Given the description of an element on the screen output the (x, y) to click on. 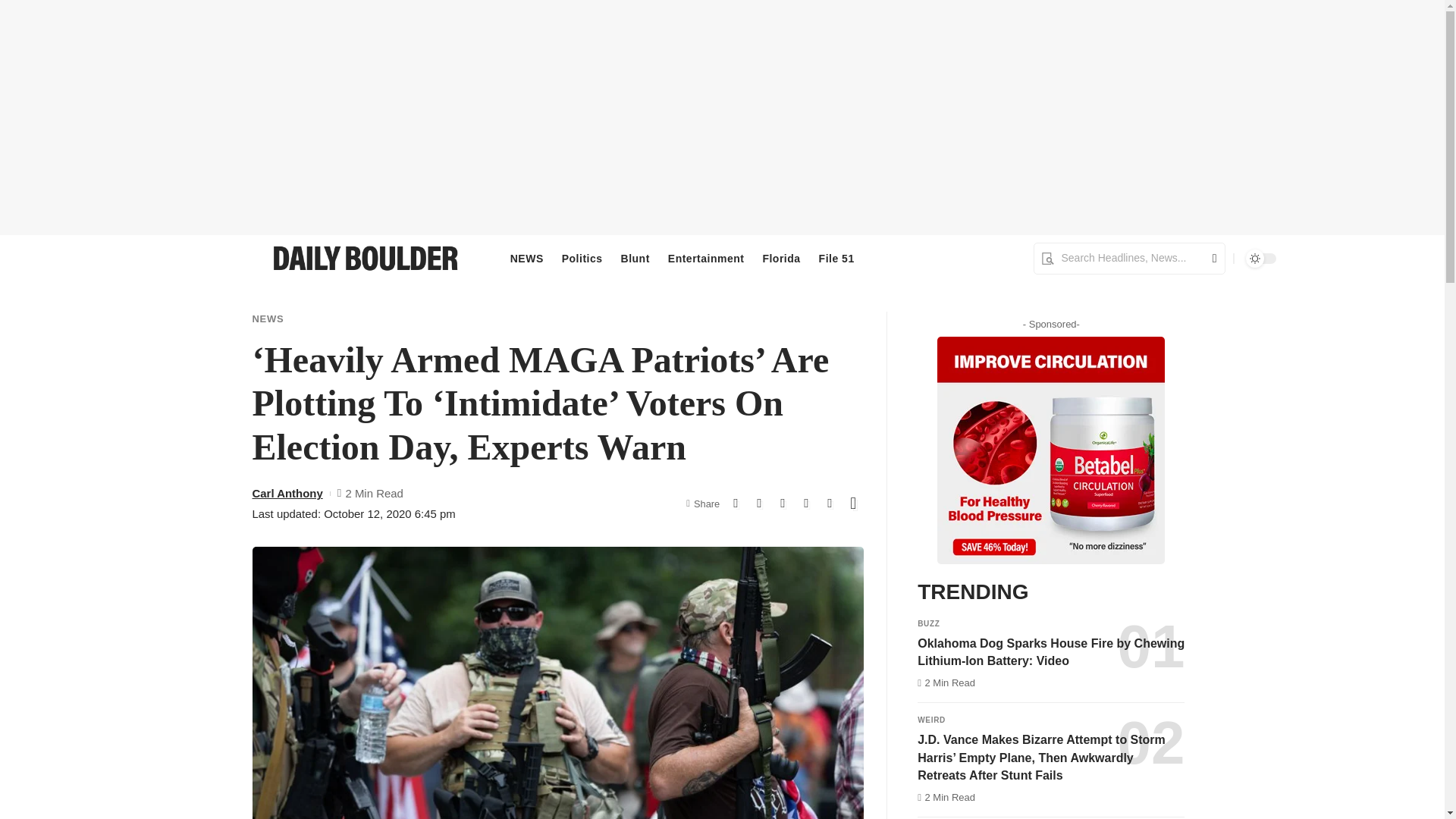
Entertainment (706, 258)
Search (1208, 258)
File 51 (836, 258)
Blunt (635, 258)
Politics (582, 258)
Florida (780, 258)
NEWS (526, 258)
